Given the description of an element on the screen output the (x, y) to click on. 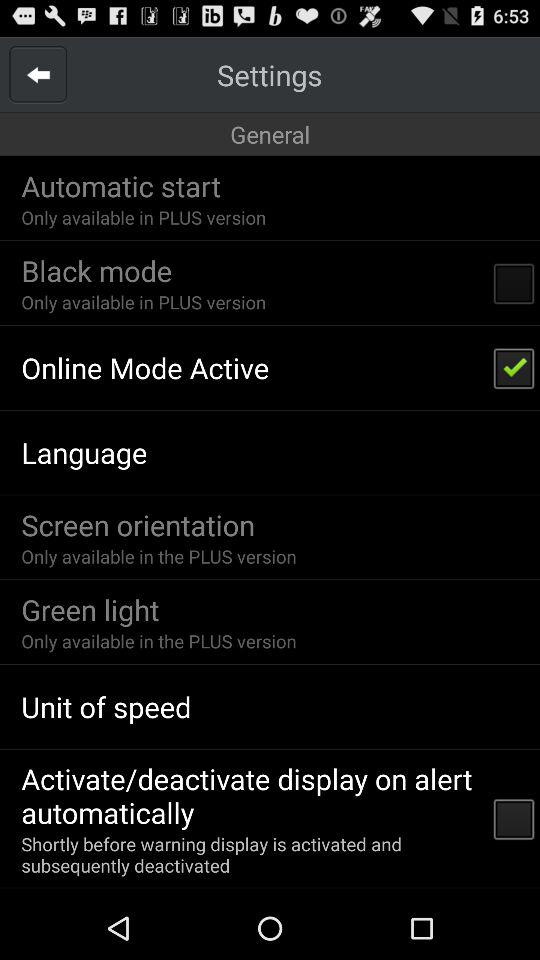
go back (38, 74)
